Given the description of an element on the screen output the (x, y) to click on. 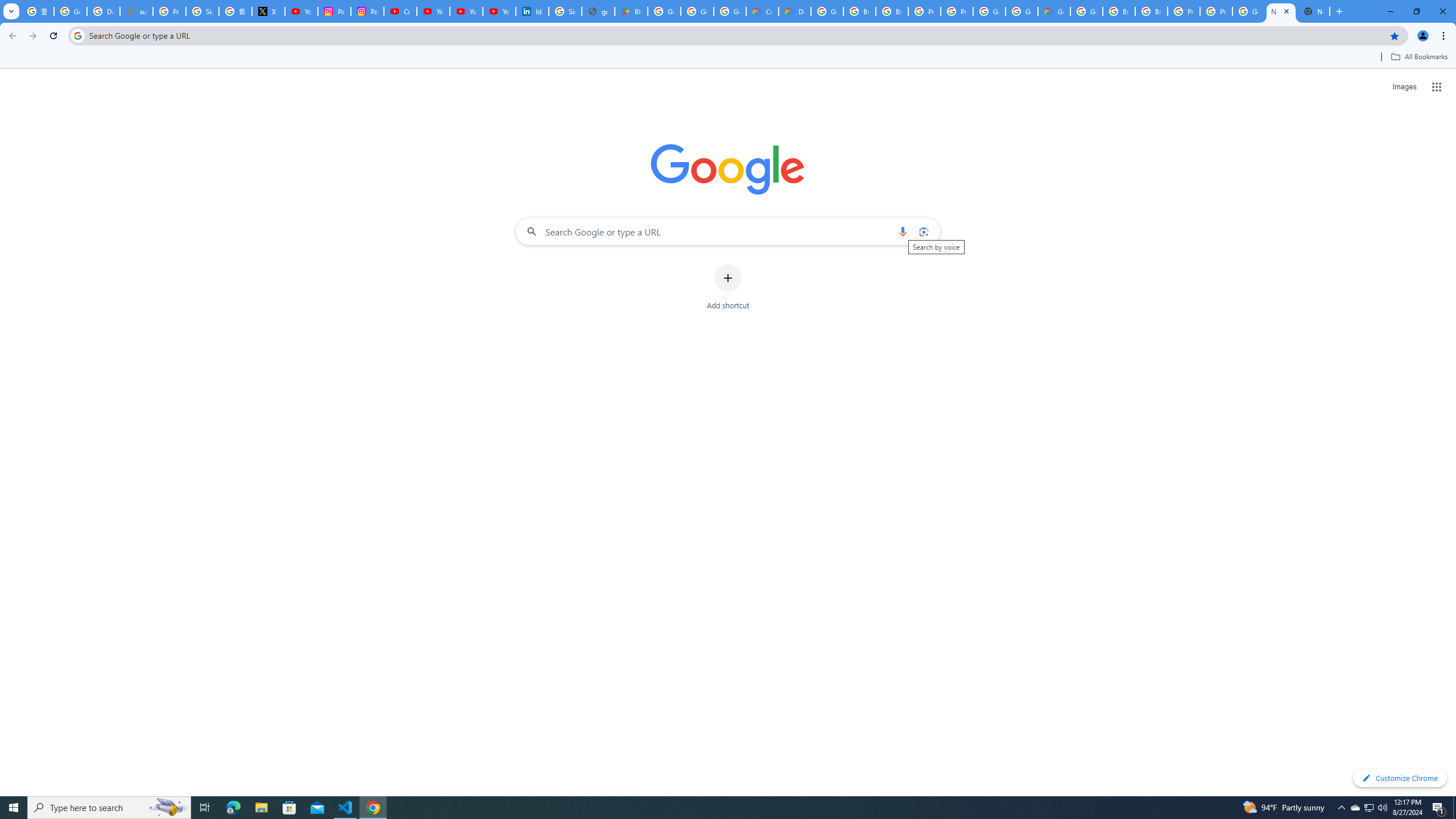
Sign in - Google Accounts (564, 11)
support.google.com - Network error (136, 11)
Add shortcut (727, 287)
Bluey: Let's Play! - Apps on Google Play (631, 11)
Browse Chrome as a guest - Computer - Google Chrome Help (859, 11)
Google Cloud Platform (827, 11)
X (268, 11)
